Given the description of an element on the screen output the (x, y) to click on. 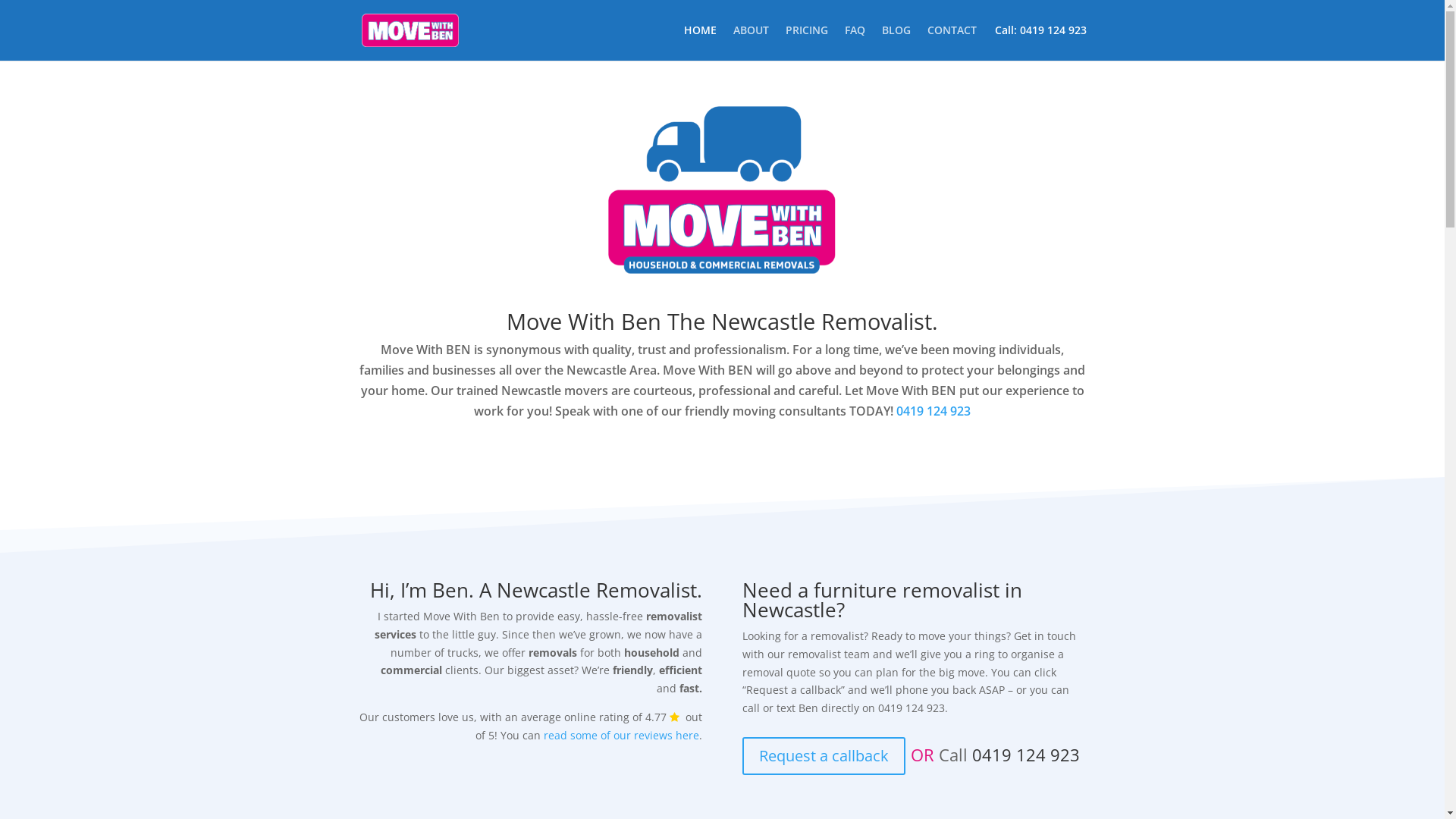
0419 124 923 Element type: text (1025, 754)
ABOUT Element type: text (750, 42)
PRICING Element type: text (806, 42)
0419 124 923 Element type: text (933, 410)
Request a callback Element type: text (823, 756)
FAQ Element type: text (854, 42)
Call: 0419 124 923 Element type: text (1036, 29)
read some of our reviews here Element type: text (621, 735)
BLOG Element type: text (895, 42)
HOME Element type: text (700, 42)
CONTACT Element type: text (950, 42)
